Given the description of an element on the screen output the (x, y) to click on. 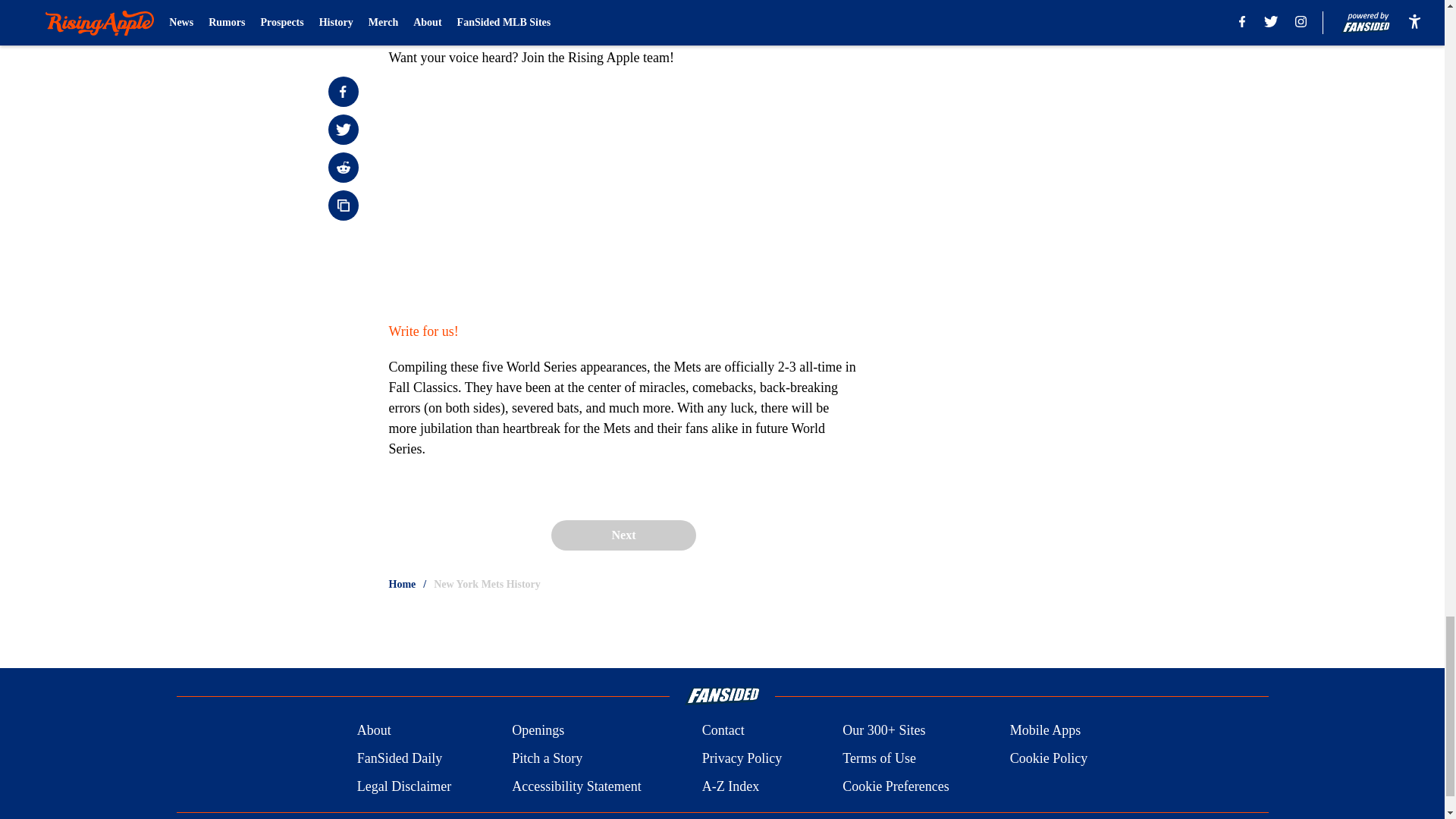
Mobile Apps (1045, 730)
Write for us! (423, 331)
Openings (538, 730)
Next (622, 535)
FanSided Daily (399, 758)
Home (401, 584)
NEXT: The best Opening Day games in Mets history (623, 16)
About (373, 730)
Contact (722, 730)
